Given the description of an element on the screen output the (x, y) to click on. 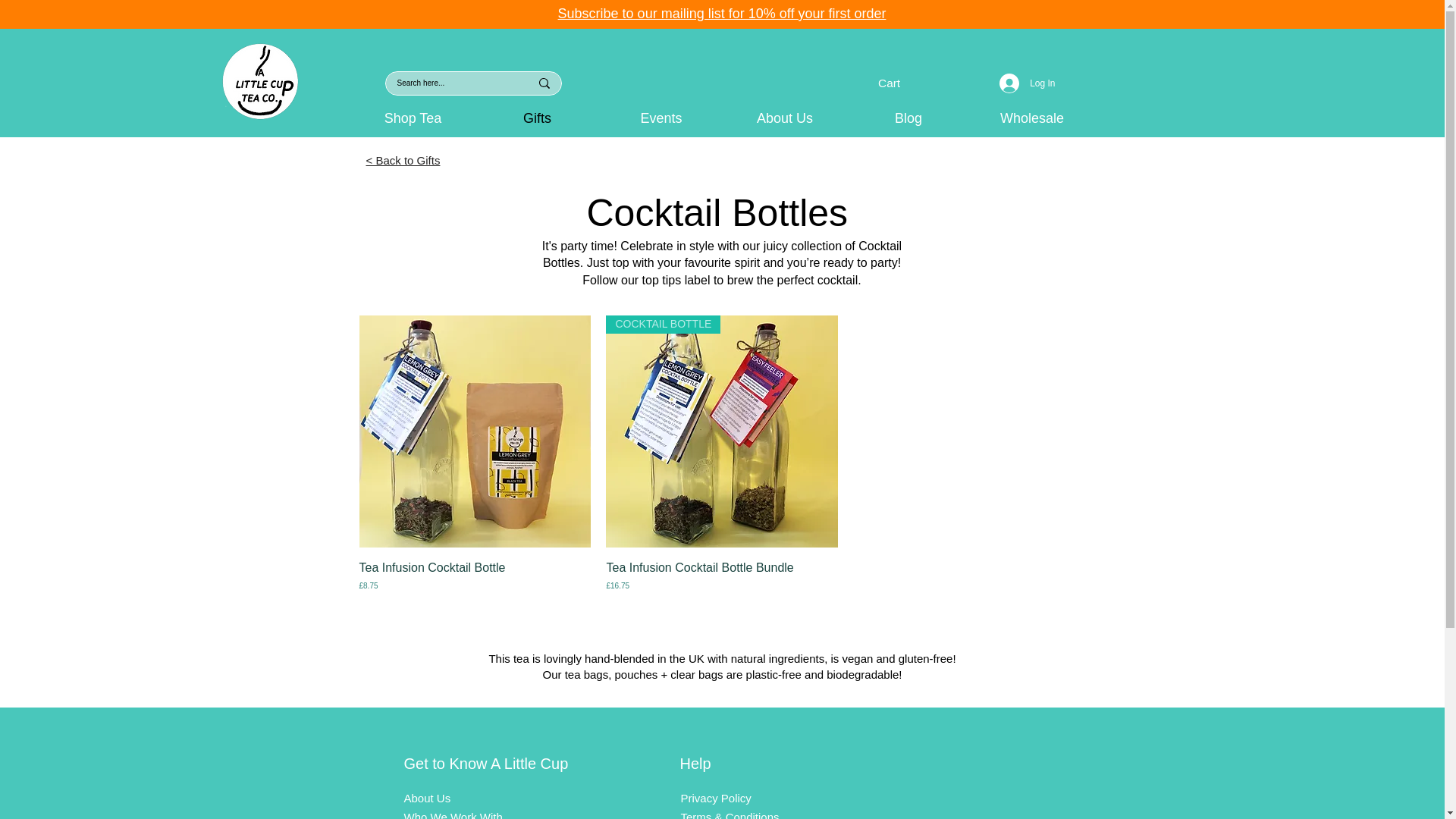
Cart (898, 83)
About Us (785, 118)
Blog (907, 118)
Gifts (536, 118)
Cart (898, 83)
Shop Tea (412, 118)
Who We Work With (452, 814)
Log In (1026, 82)
About Us (426, 797)
Events (660, 118)
Wholesale (1032, 118)
COCKTAIL BOTTLE (721, 431)
